Given the description of an element on the screen output the (x, y) to click on. 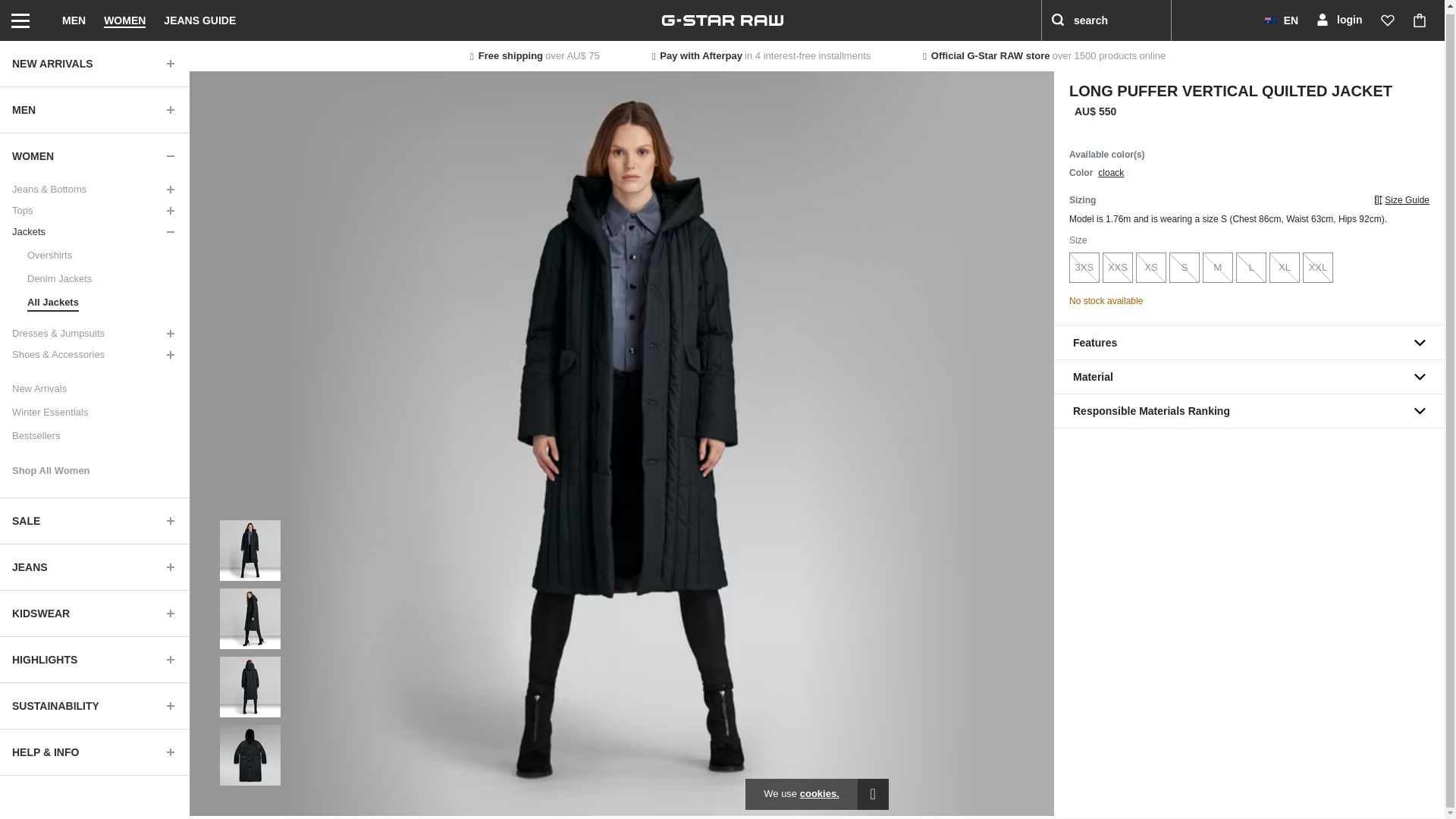
login (1338, 18)
G-Star RAW (721, 18)
MEN (73, 18)
EN (1281, 18)
MEN (94, 106)
JEANS GUIDE (199, 18)
WOMEN (124, 18)
NEW ARRIVALS (94, 60)
